Given the description of an element on the screen output the (x, y) to click on. 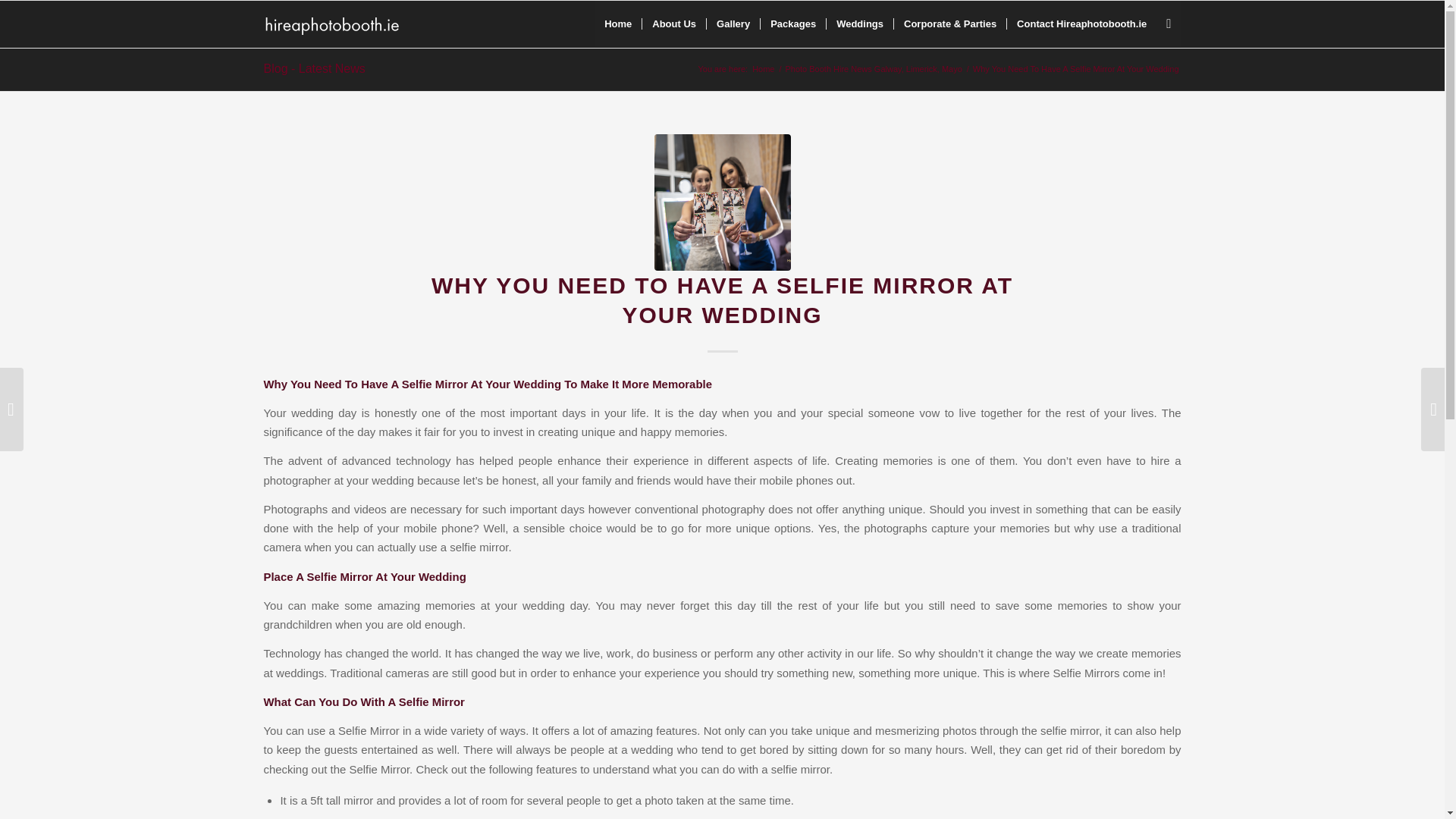
Home (618, 23)
Contact Hireaphotobooth.ie (1081, 23)
hireaphotobooth-small (336, 23)
Photobooth Hire (762, 69)
Weddings (859, 23)
About Us (674, 23)
Permanent Link: Blog - Latest News (314, 68)
Photo Booth Hire News Galway, Limerick, Mayo (873, 69)
Packages (792, 23)
Gallery (733, 23)
Home (762, 69)
Cabra Castle Weddings Selfie Mirror Photobooth Fun (721, 202)
Blog - Latest News (314, 68)
